Given the description of an element on the screen output the (x, y) to click on. 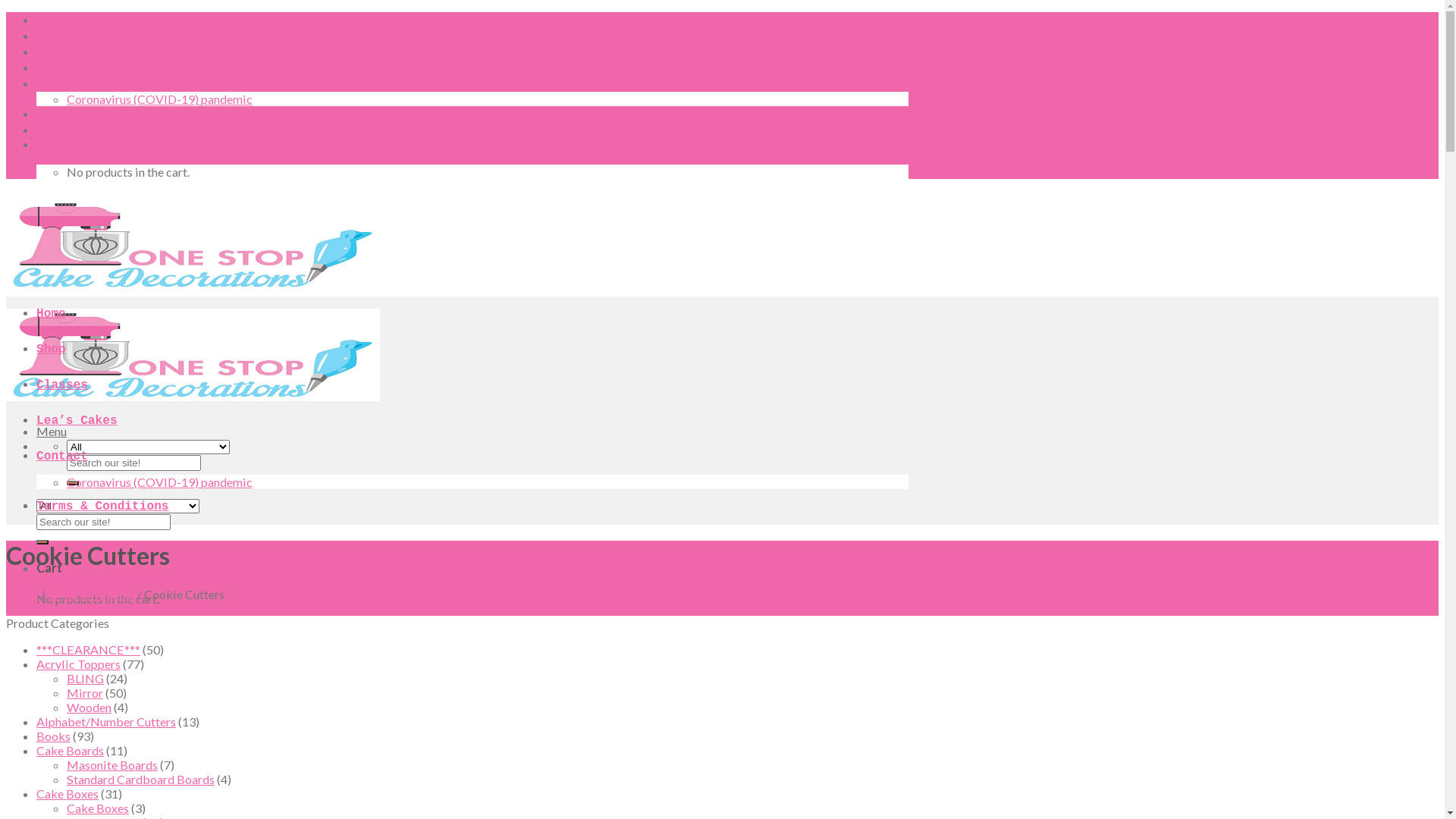
Classes Element type: text (61, 385)
Cake Boxes Element type: text (97, 807)
Terms & Conditions Element type: text (102, 115)
Cake Boards Element type: text (69, 750)
Acrylic Toppers Element type: text (78, 663)
Shop Element type: text (50, 36)
Search Element type: text (72, 482)
Wooden Element type: text (88, 706)
Contact Element type: text (61, 84)
Classes Element type: text (61, 52)
Home Element type: text (22, 593)
Home Element type: text (50, 21)
Login Element type: text (50, 129)
Home Element type: text (50, 313)
Books Element type: text (53, 735)
Wilton Products Element type: text (90, 593)
Shop Element type: text (50, 349)
One Stop Cake Decorations - One Stop and You've Got the Lot Element type: hover (192, 348)
Masonite Boards Element type: text (111, 764)
Coronavirus (COVID-19) pandemic Element type: text (159, 481)
BLING Element type: text (84, 678)
Search Element type: text (42, 541)
Skip to content Element type: text (5, 11)
Terms & Conditions Element type: text (102, 506)
Contact Element type: text (61, 456)
$0.00 Element type: text (54, 145)
Filter Element type: text (21, 608)
Standard Cardboard Boards Element type: text (140, 778)
Cake Boxes Element type: text (67, 793)
Menu Element type: text (51, 430)
Mirror Element type: text (84, 692)
***CLEARANCE*** Element type: text (88, 649)
Alphabet/Number Cutters Element type: text (105, 721)
Coronavirus (COVID-19) pandemic Element type: text (159, 98)
